Given the description of an element on the screen output the (x, y) to click on. 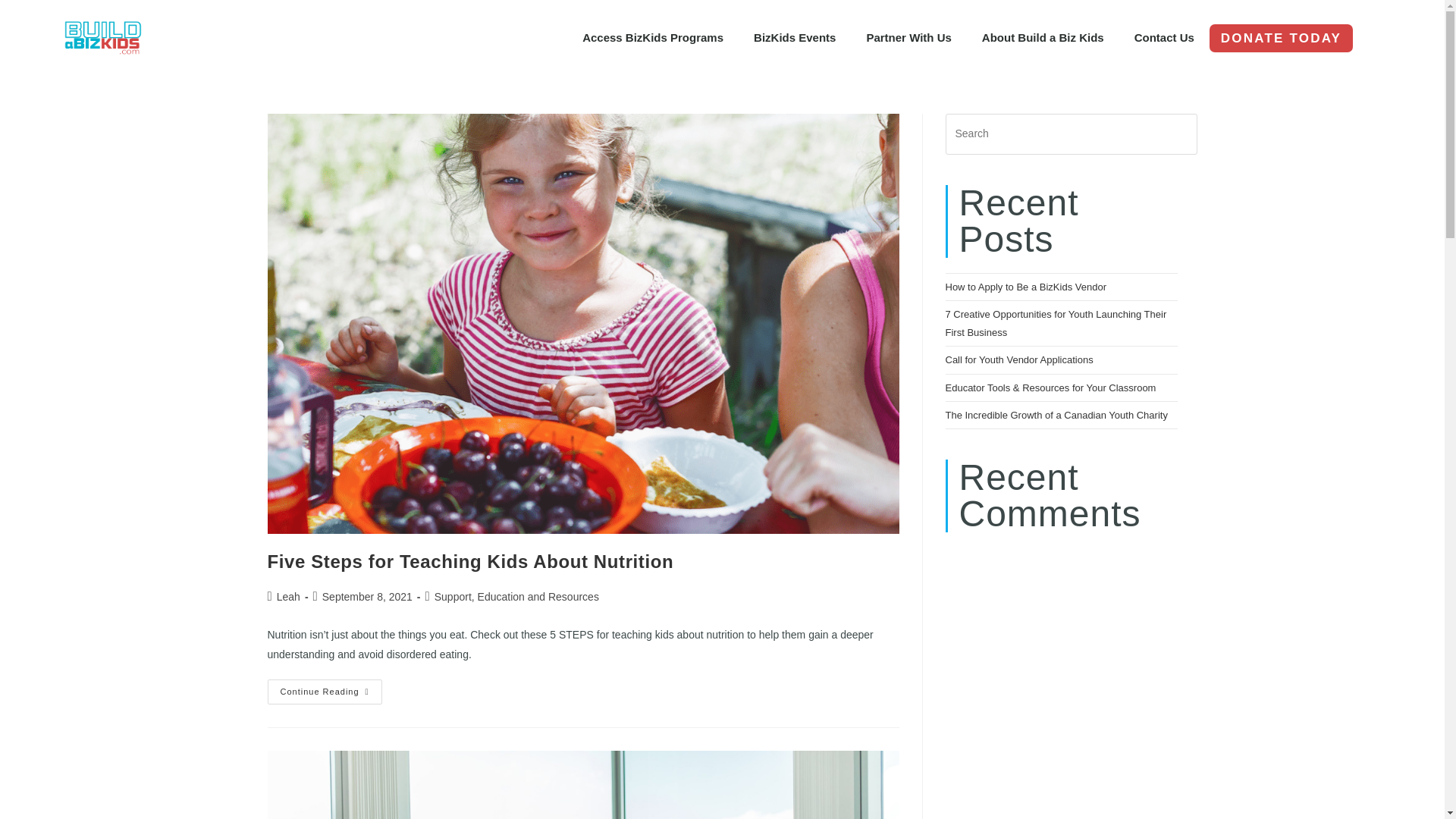
Partner With Us (908, 38)
Posts by Leah (287, 596)
BizKids Events (794, 38)
About Build a Biz Kids (1042, 38)
Access BizKids Programs (652, 38)
Contact Us (1164, 38)
